Given the description of an element on the screen output the (x, y) to click on. 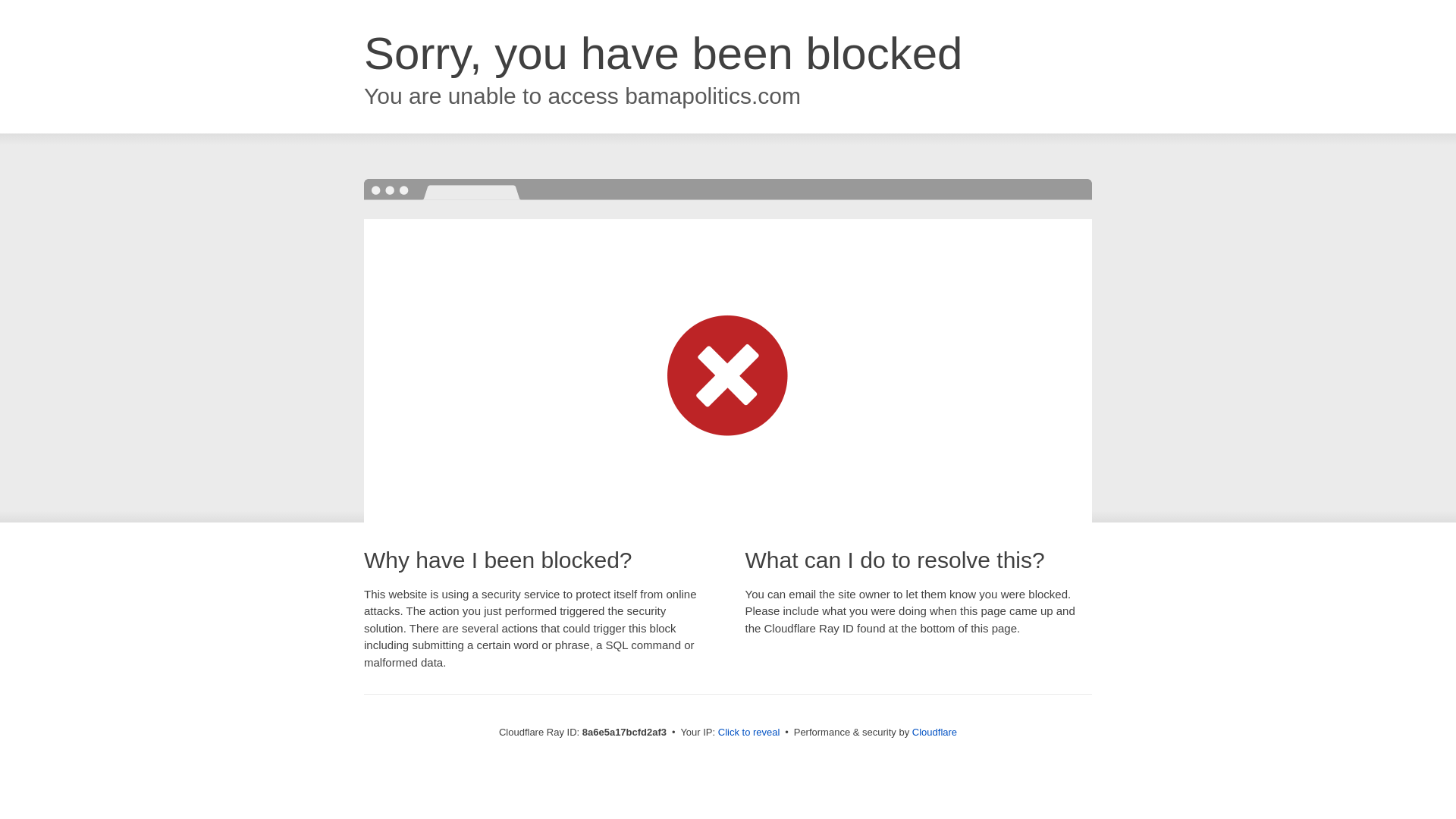
Cloudflare (934, 731)
Click to reveal (748, 732)
